Given the description of an element on the screen output the (x, y) to click on. 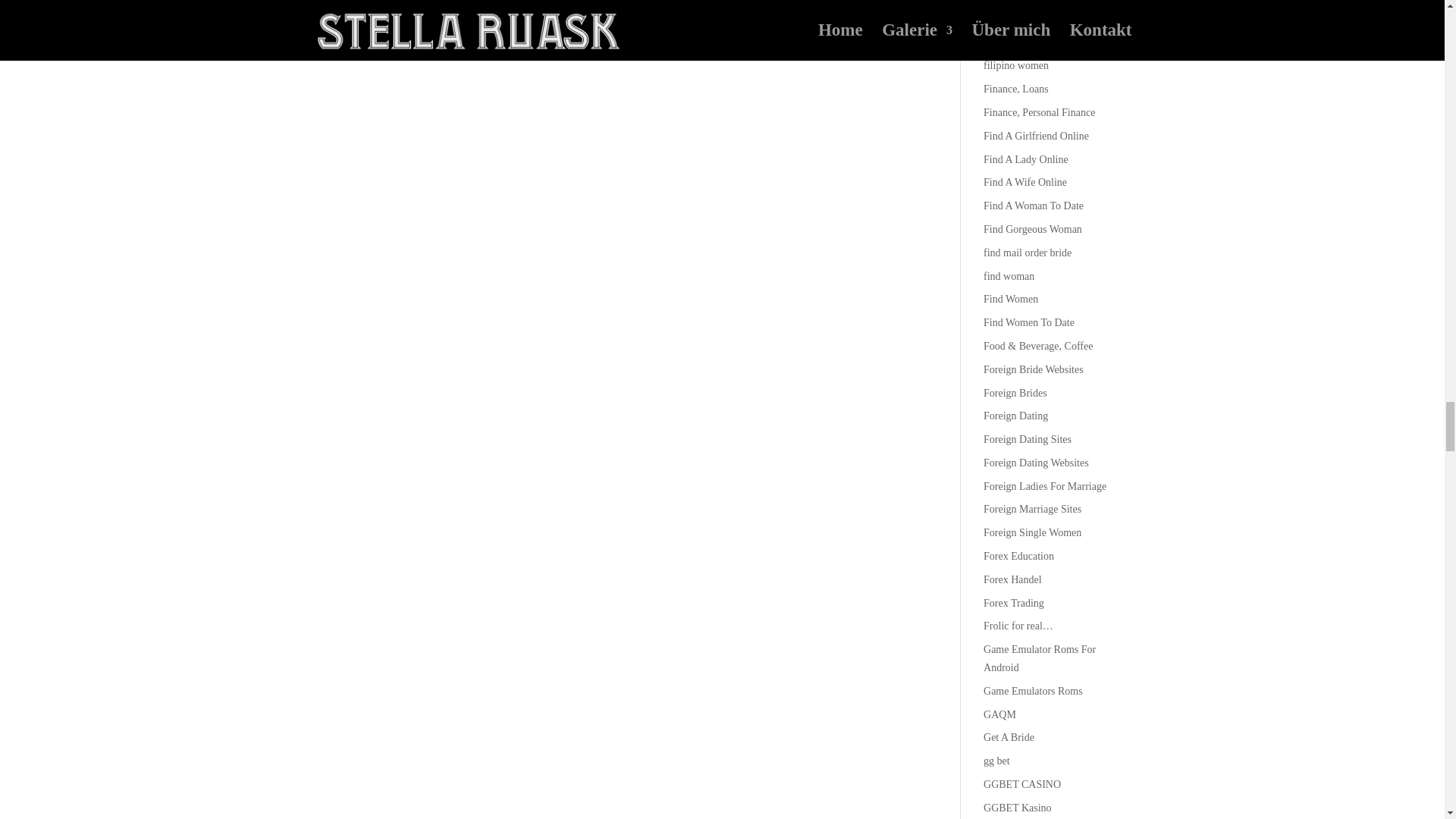
Finance, Personal Finance (1039, 112)
Finance, Loans (1016, 89)
